Given the description of an element on the screen output the (x, y) to click on. 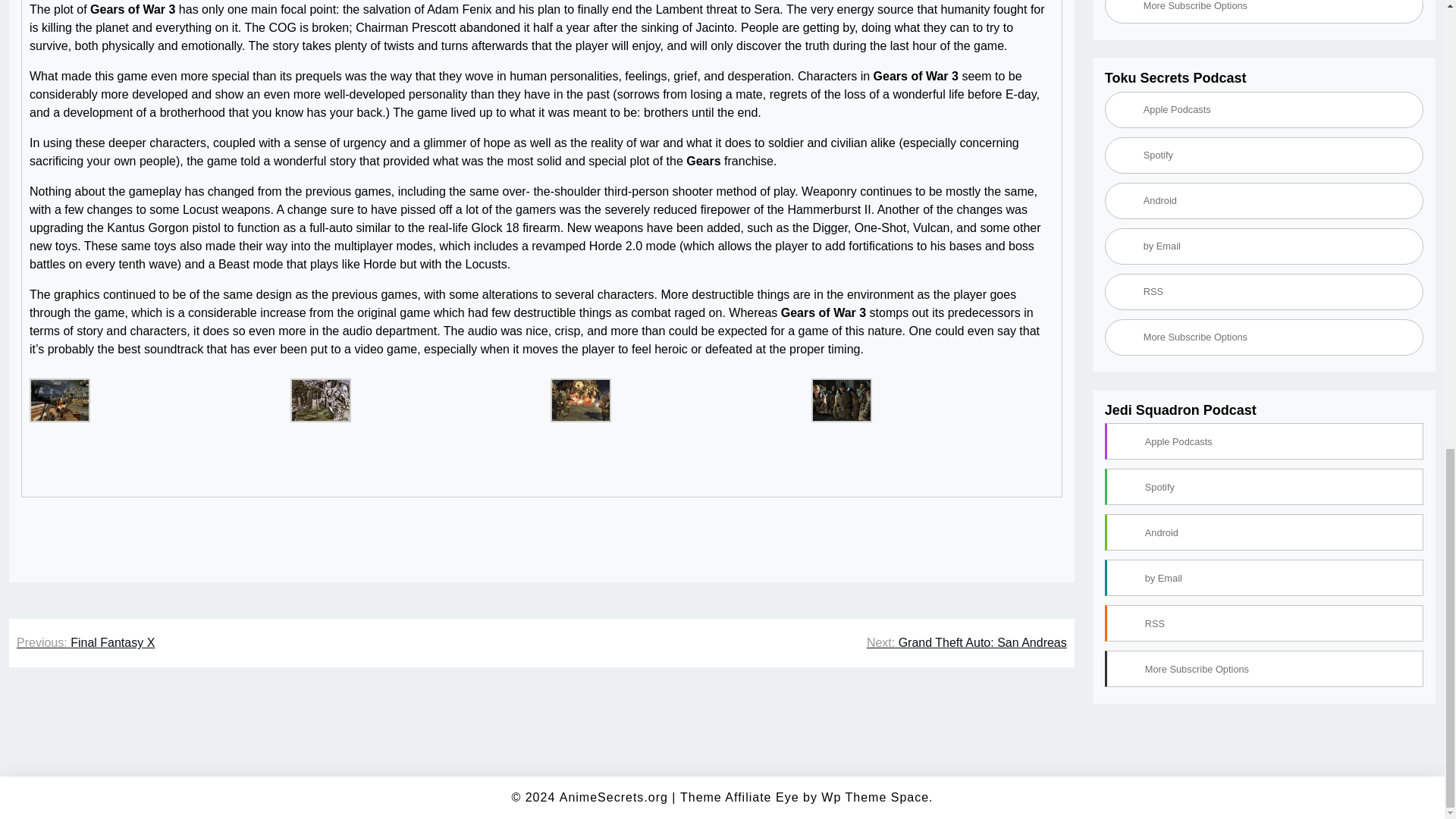
Subscribe via RSS (1264, 142)
Subscribe by Email (1264, 96)
Subscribe on Android (1264, 51)
Subscribe on Apple Podcasts (1264, 291)
Subscribe on Spotify (1264, 12)
More Subscribe Options (1264, 187)
